Given the description of an element on the screen output the (x, y) to click on. 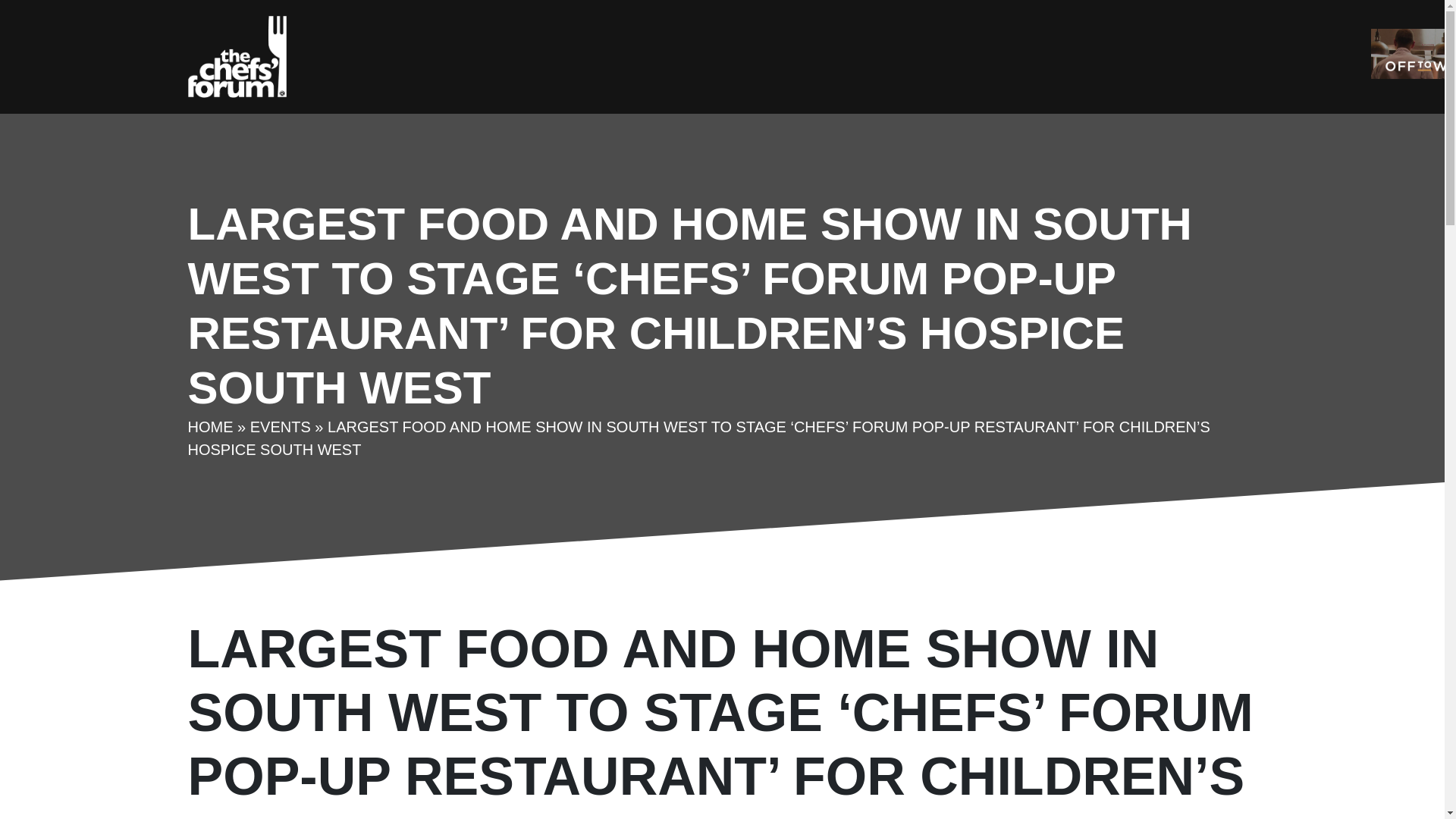
EVENTS (280, 426)
HOME (209, 426)
